Given the description of an element on the screen output the (x, y) to click on. 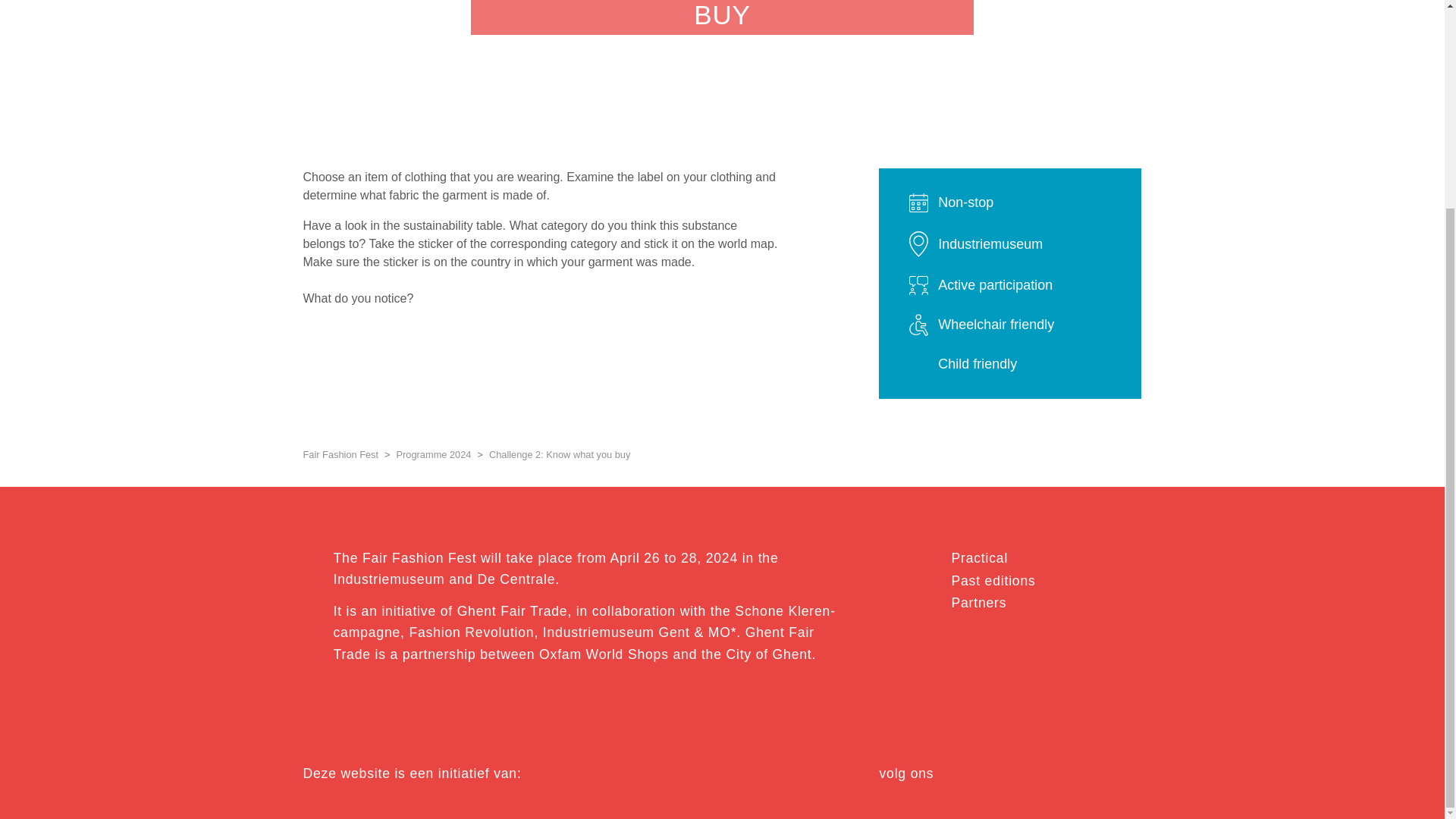
Practical (978, 557)
Programme 2024 (433, 454)
Partners (978, 602)
Past editions (992, 580)
Fair Fashion Fest (340, 454)
